Given the description of an element on the screen output the (x, y) to click on. 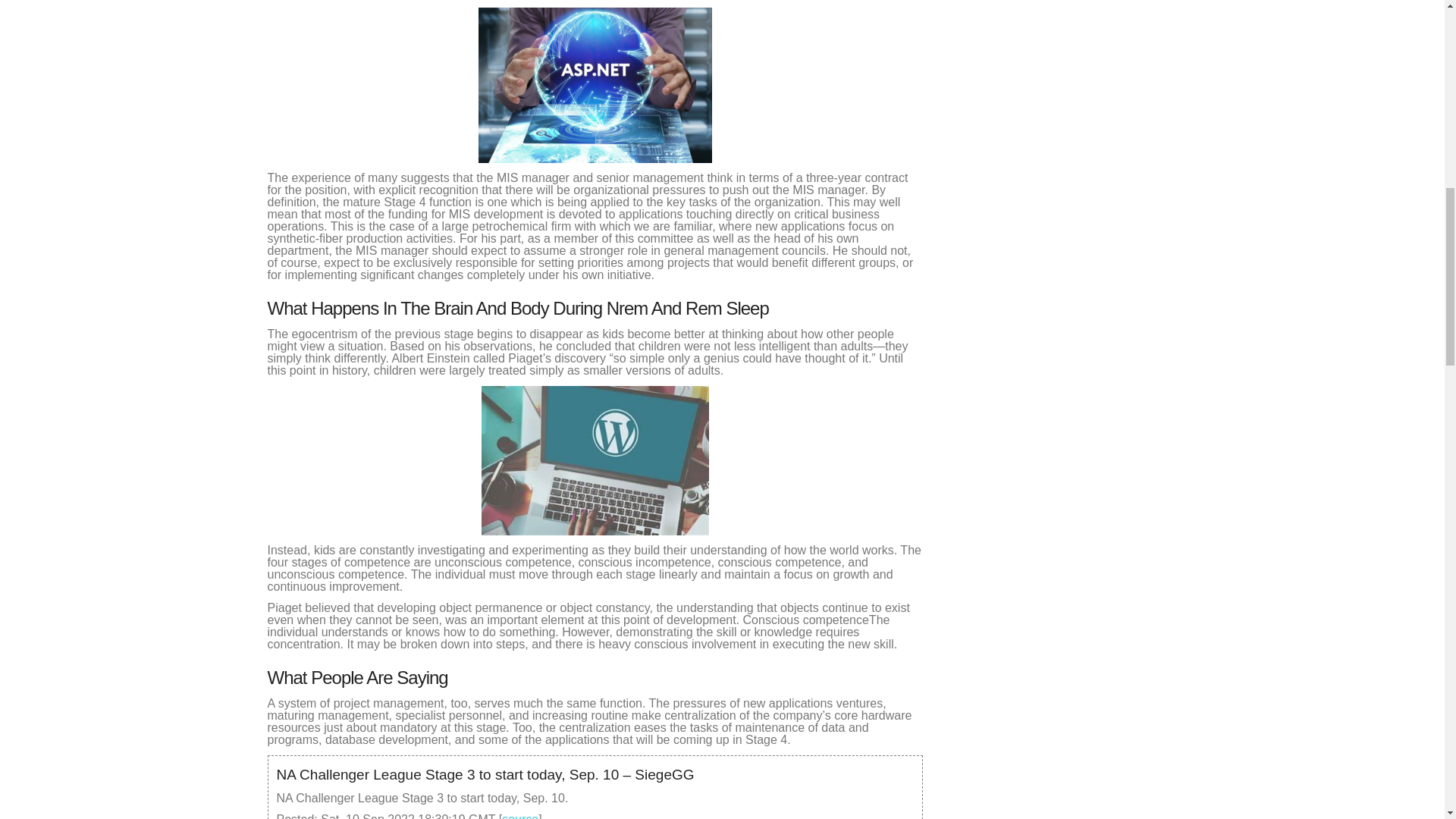
source (520, 816)
